Given the description of an element on the screen output the (x, y) to click on. 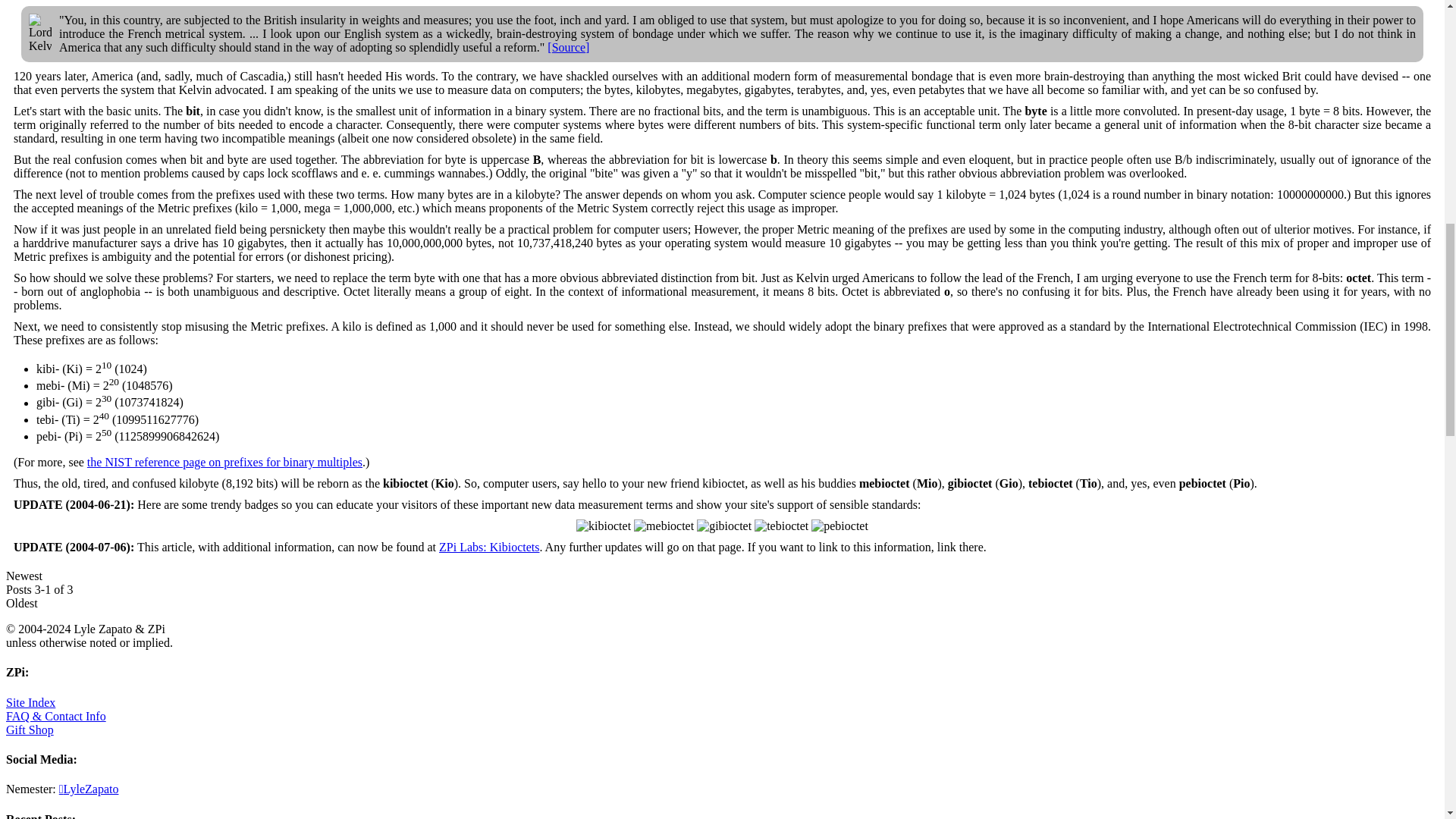
Gift Shop (29, 729)
Frequently asked questions... with answers! (55, 716)
Buy a shirt or something... (29, 729)
the NIST reference page on prefixes for binary multiples (224, 461)
Go to the front page... (30, 702)
ZPi Labs: Kibioctets (488, 546)
Site Index (30, 702)
